Given the description of an element on the screen output the (x, y) to click on. 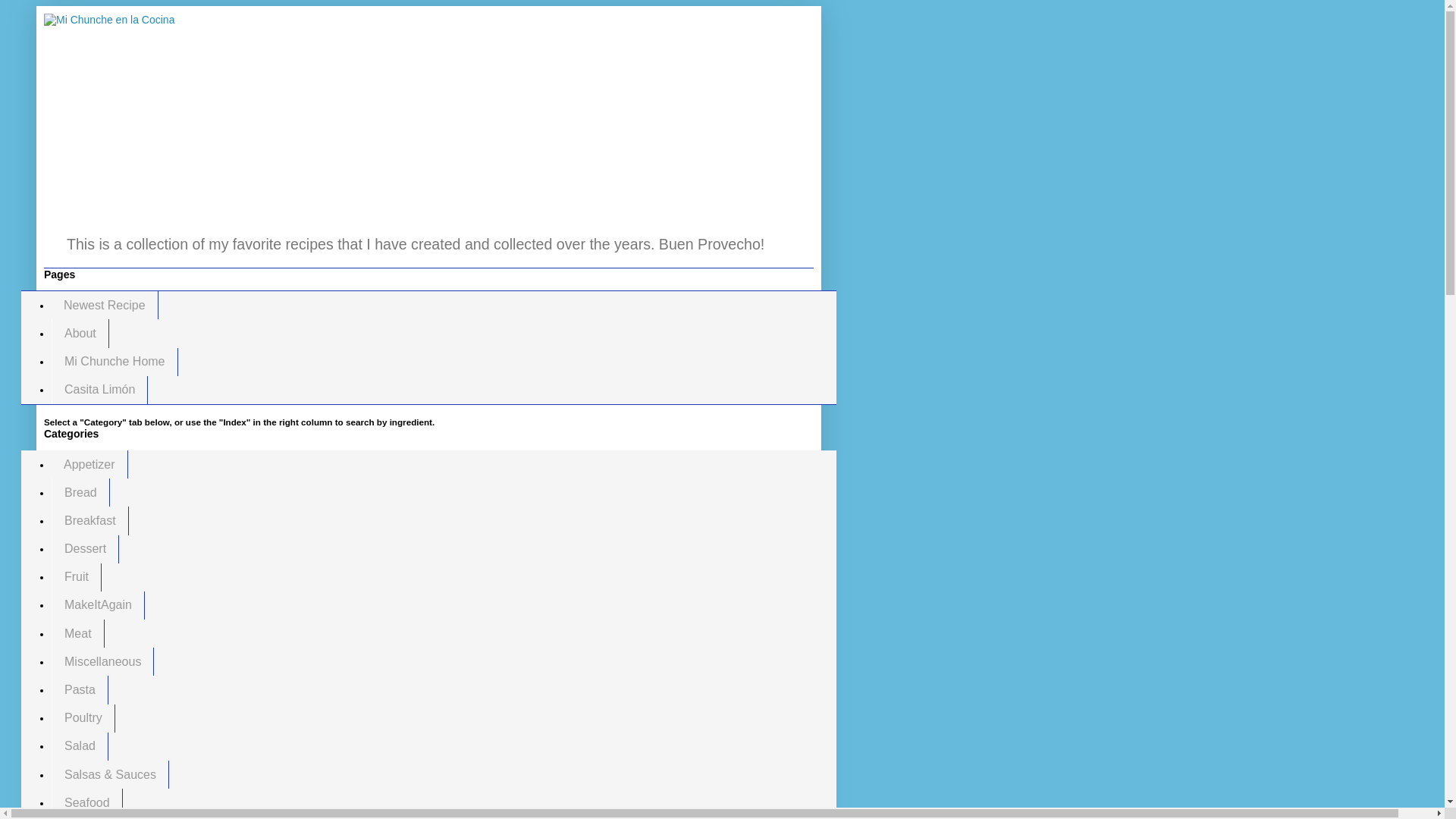
Seafood (86, 802)
Side dish (89, 817)
Meat (77, 633)
Dessert (84, 549)
Breakfast (89, 520)
Mi Chunche Home (113, 361)
About (79, 333)
Fruit (75, 577)
Newest Recipe (104, 305)
Salad (78, 746)
